Given the description of an element on the screen output the (x, y) to click on. 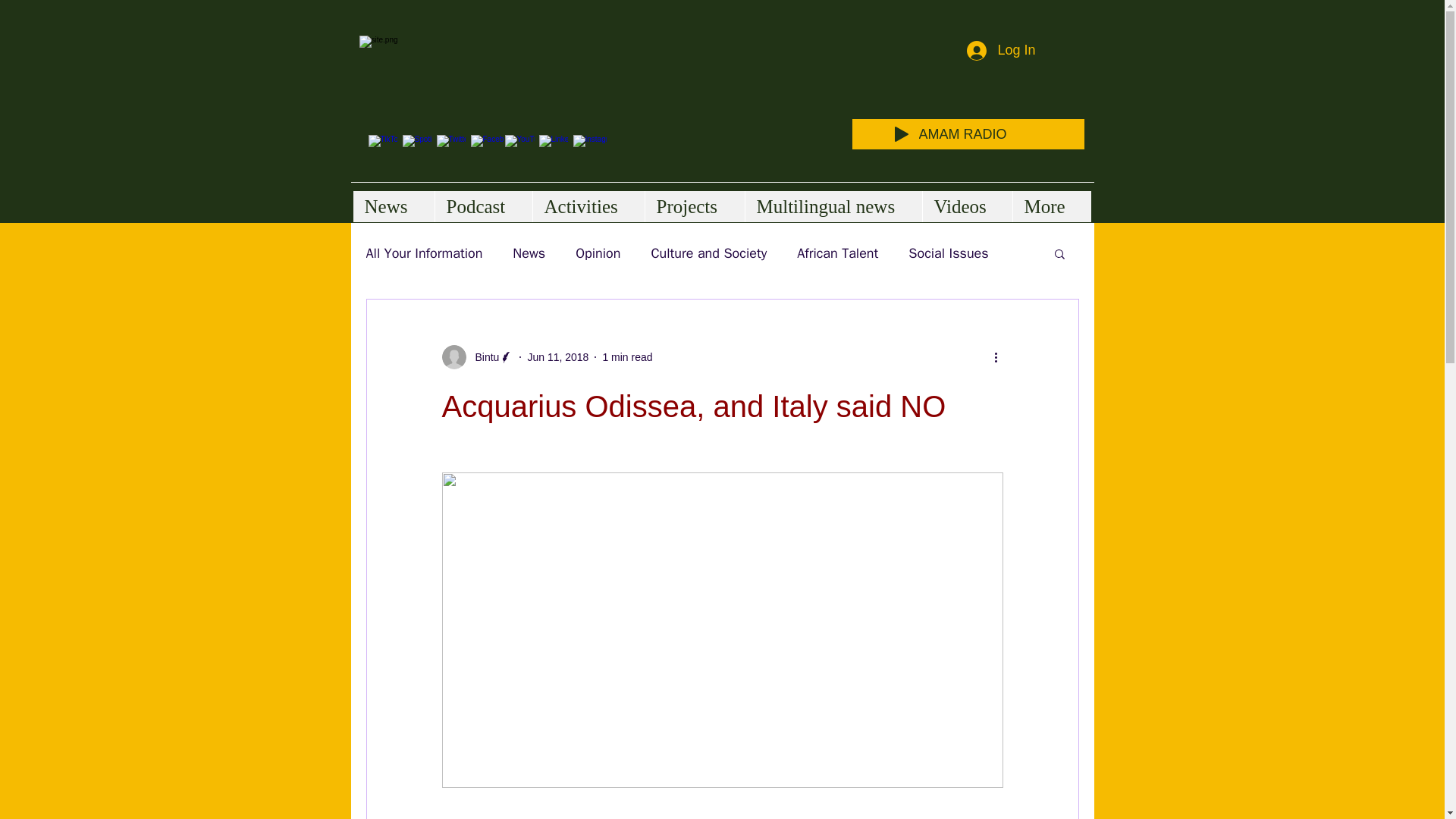
Activities (588, 205)
Log In (1000, 50)
News (393, 205)
Bintu (482, 356)
Culture and Society (708, 253)
Videos (966, 205)
Multilingual news (832, 205)
1 min read (627, 356)
Bintu (477, 356)
All Your Information (423, 253)
